Given the description of an element on the screen output the (x, y) to click on. 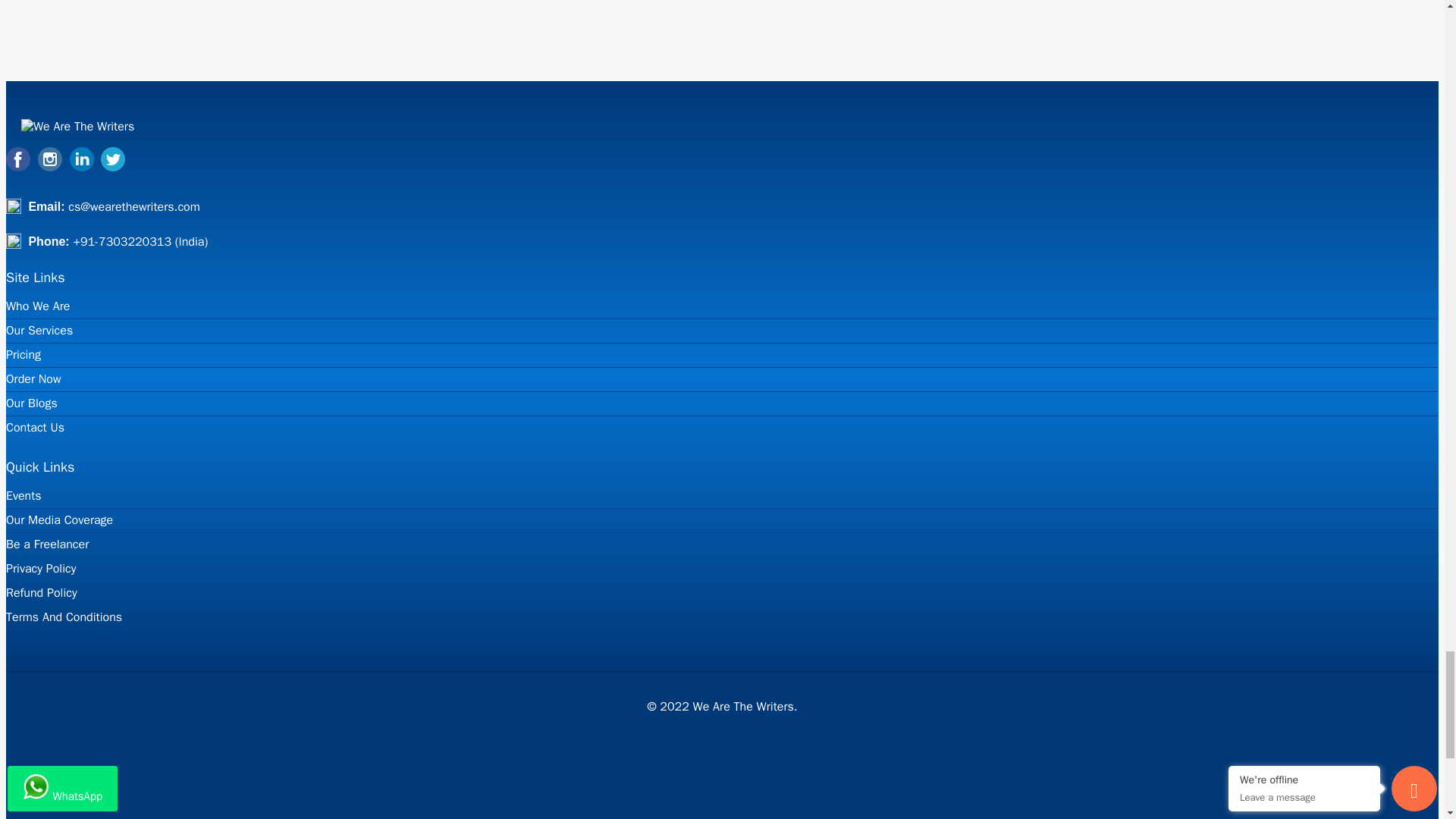
Instagram (49, 167)
Linkedin (81, 167)
Twitter (112, 167)
Facebook (17, 167)
